Given the description of an element on the screen output the (x, y) to click on. 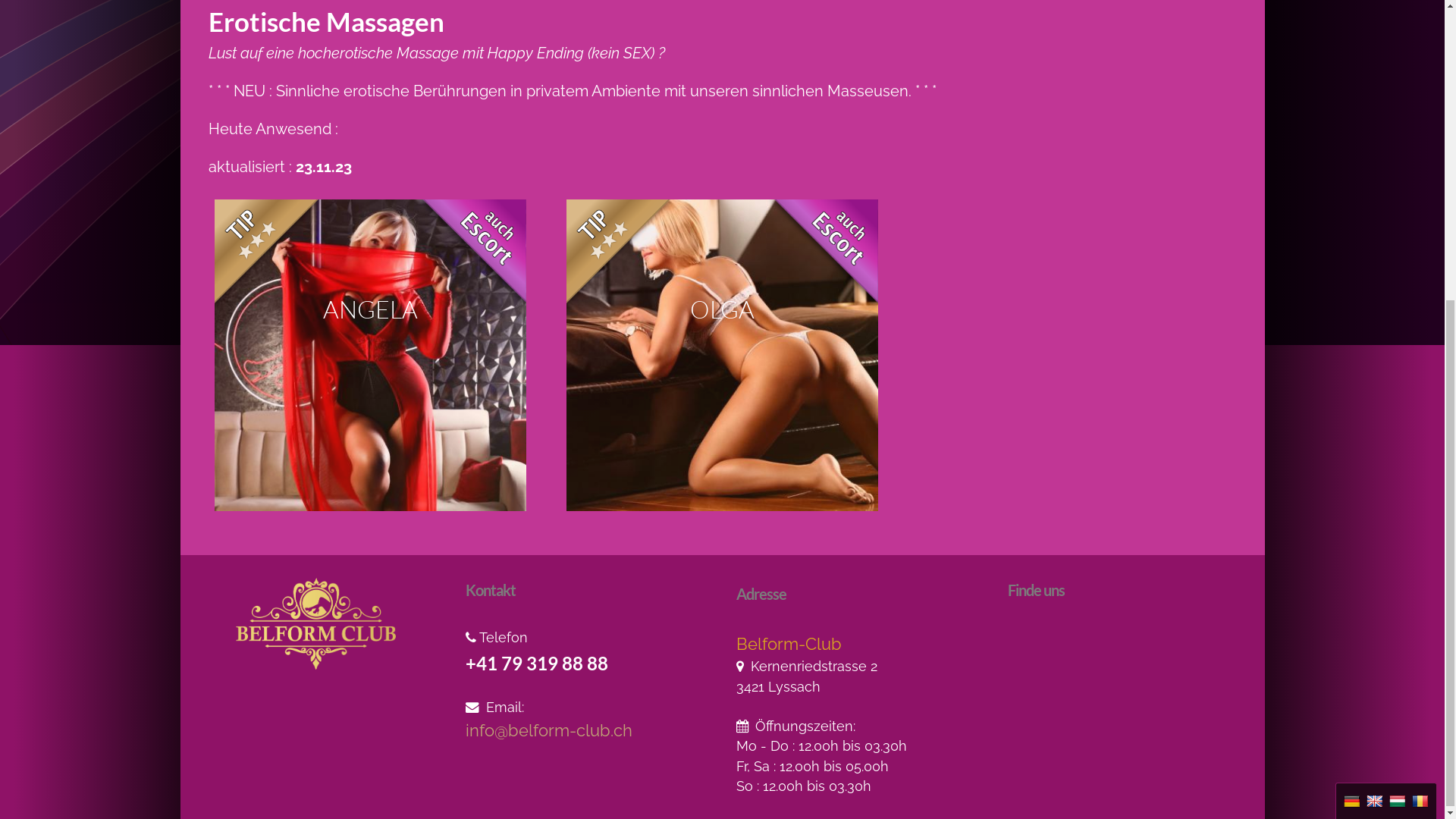
info@belform-club.ch
info@belform-club.ch Element type: text (1170, 24)
Abholservice
Abholservice Element type: text (599, 24)
Erotische Massagen
Erotische Massagen Element type: text (459, 24)
Galerie
Galerie Element type: text (909, 24)
Kontakt
Kontakt Element type: text (769, 24)
+41 79 319 88 88
+41 79 319 88 88 Element type: text (1181, 62)
Unsere Models
Unsere Models Element type: text (314, 24)
Jobs
Jobs Element type: text (839, 24)
Preise
Preise Element type: text (692, 24)
 Finde uns Element type: text (722, 430)
Home
Home Element type: text (215, 24)
